Given the description of an element on the screen output the (x, y) to click on. 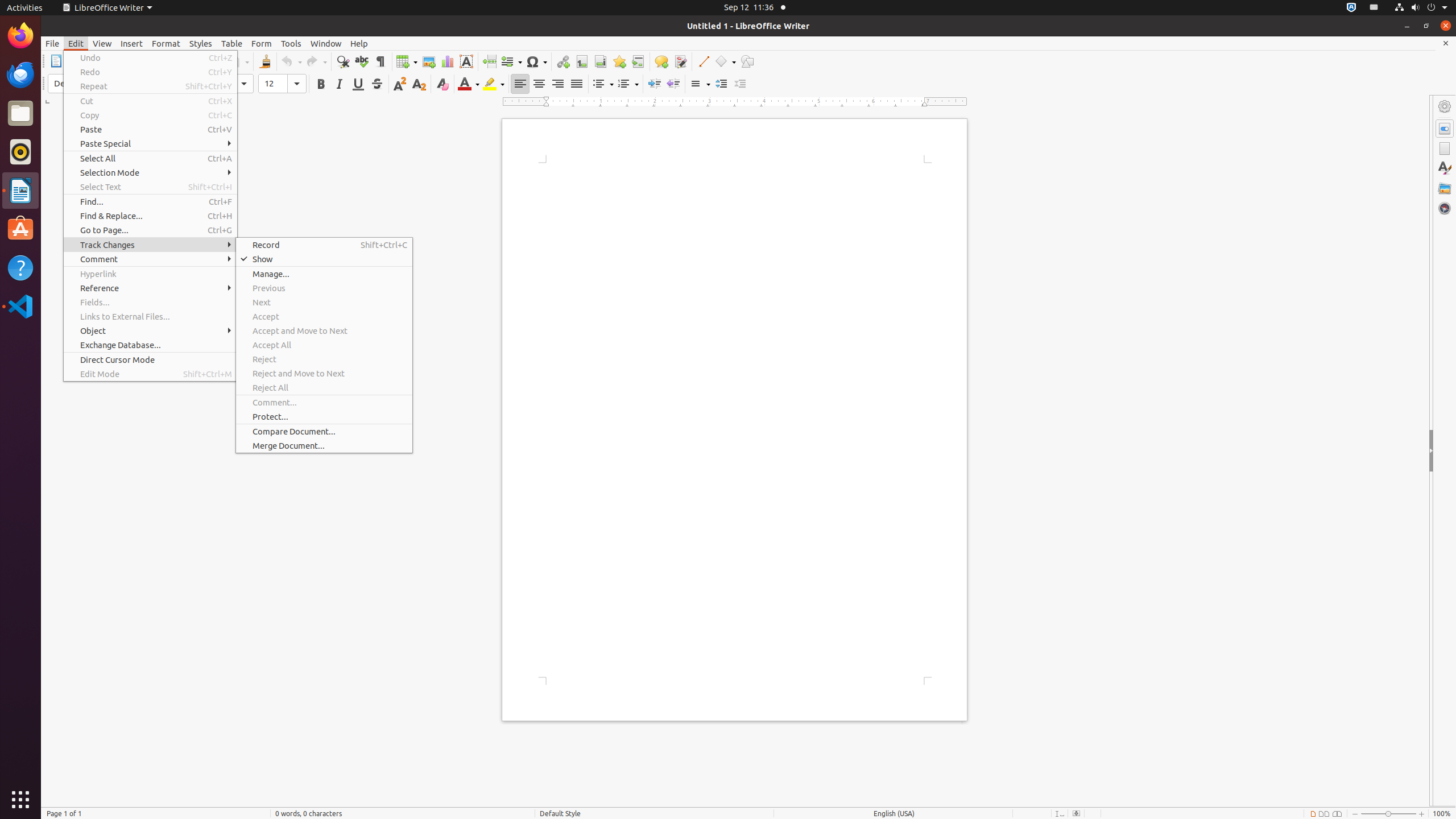
LibreOffice Writer Element type: push-button (20, 190)
Justified Element type: toggle-button (576, 83)
Rhythmbox Element type: push-button (20, 151)
System Element type: menu (1420, 7)
Symbol Element type: push-button (535, 61)
